Given the description of an element on the screen output the (x, y) to click on. 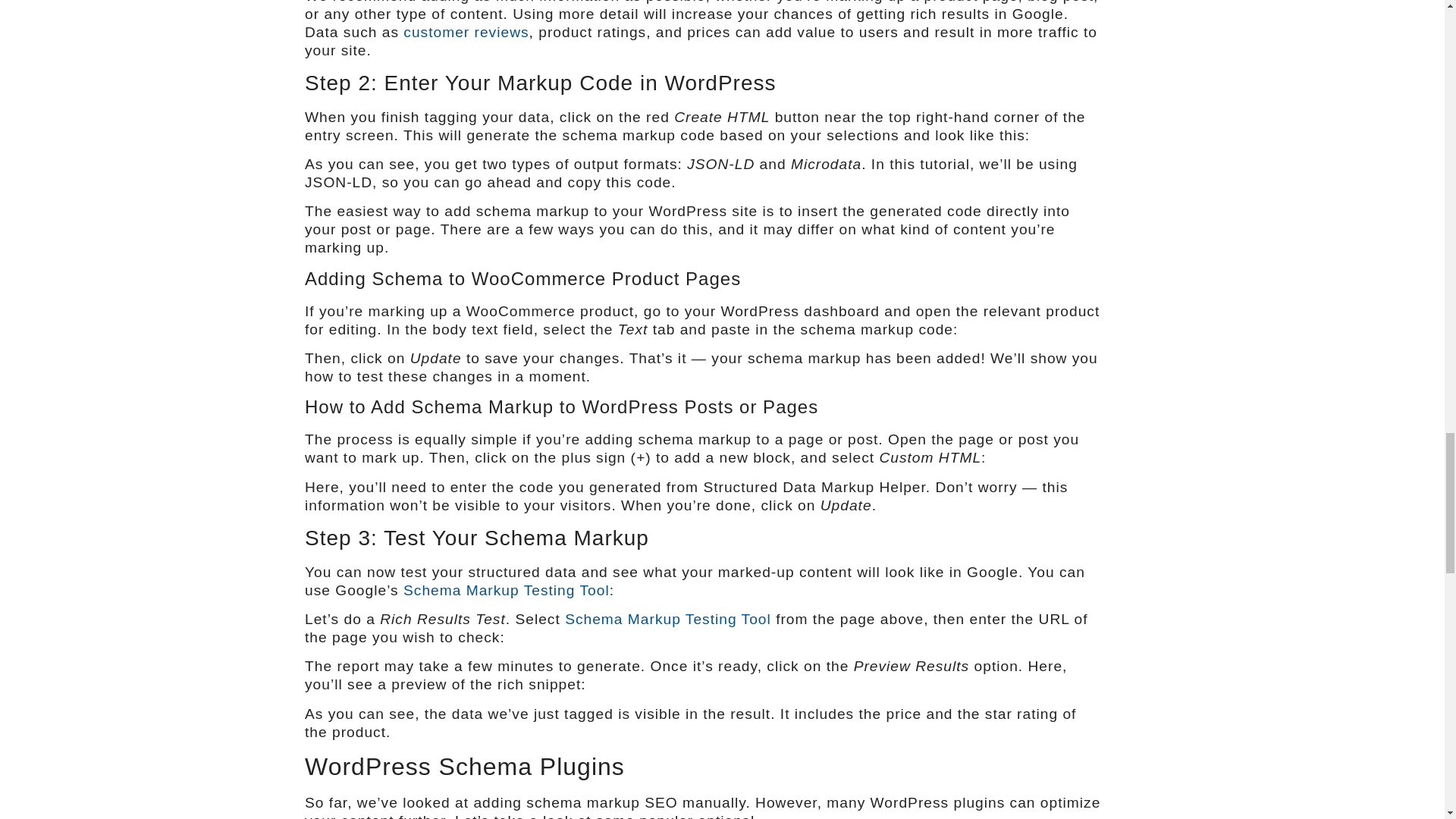
customer reviews (465, 32)
Schema Markup Testing Tool (506, 590)
Schema Markup Testing Tool (667, 618)
